Given the description of an element on the screen output the (x, y) to click on. 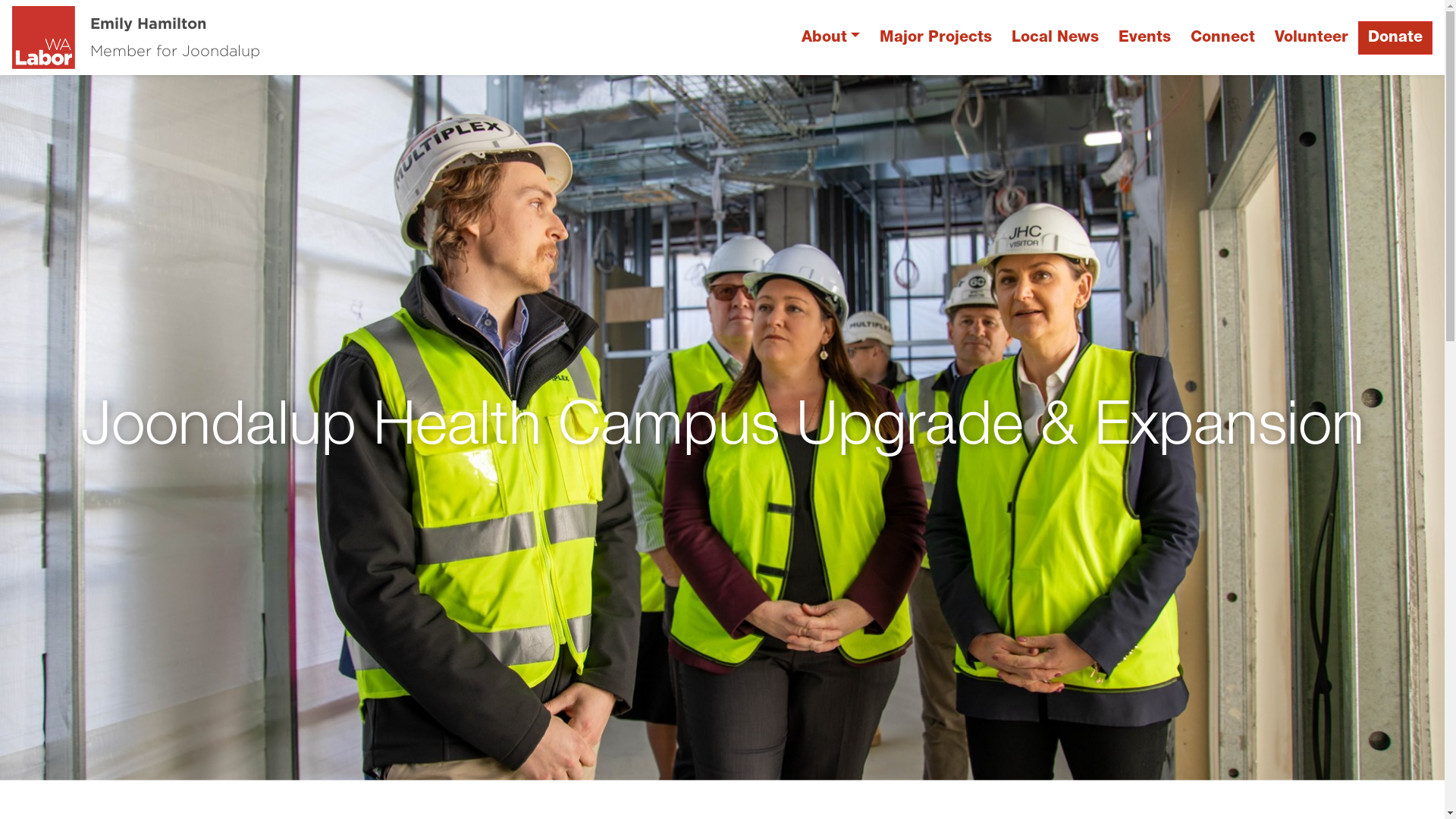
Local News Element type: text (1054, 37)
Connect Element type: text (1222, 37)
Previous Element type: text (108, 427)
Volunteer Element type: text (1311, 37)
About Element type: text (830, 37)
Major Projects Element type: text (935, 37)
Next Element type: text (1335, 427)
Events Element type: text (1144, 37)
Donate Element type: text (1395, 37)
